Given the description of an element on the screen output the (x, y) to click on. 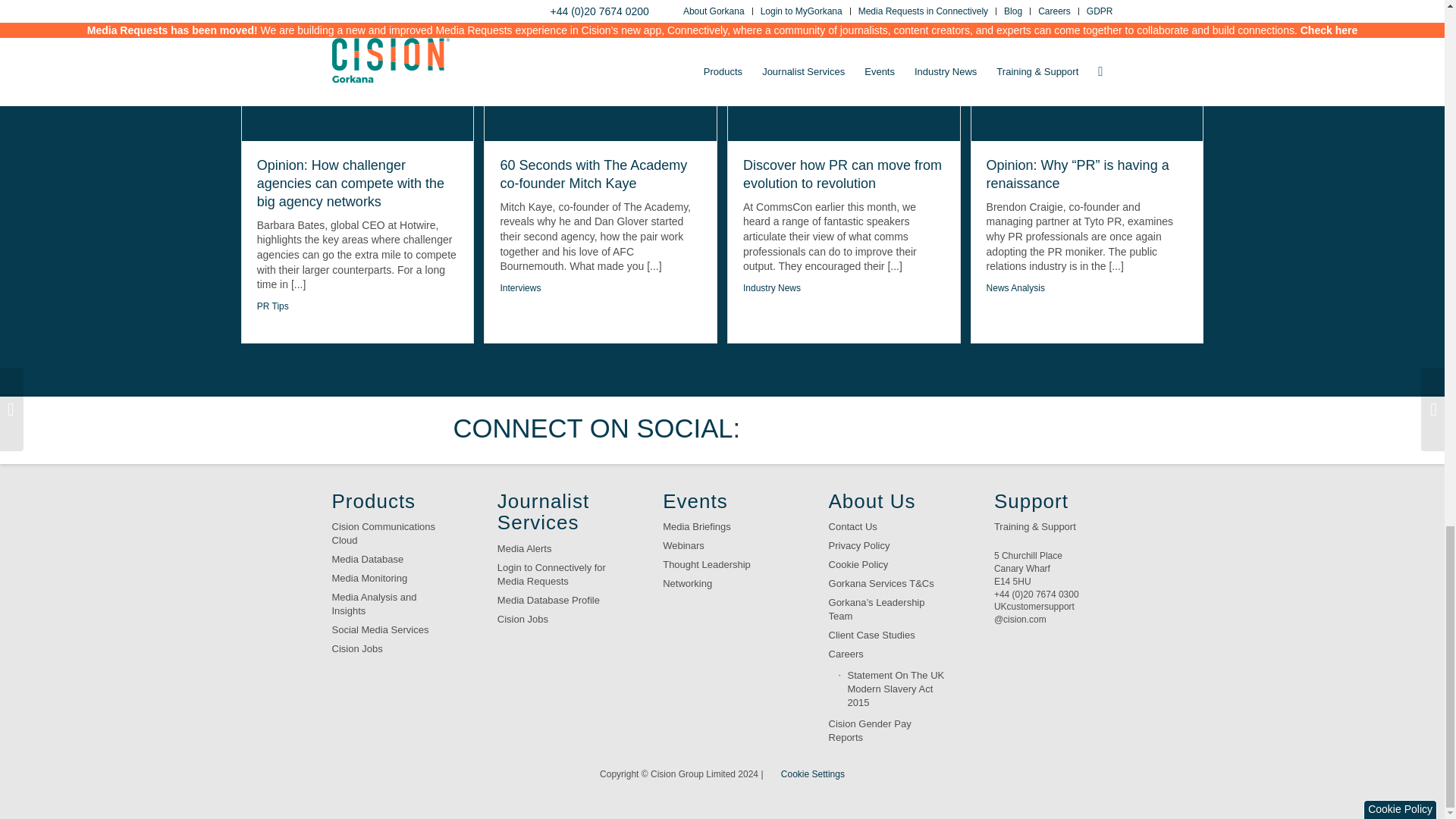
connect on Twitter (777, 428)
connect on Instagram (966, 428)
connect on YouTube (918, 428)
connect on Facebook (824, 428)
connect on Linkedin (872, 428)
